Given the description of an element on the screen output the (x, y) to click on. 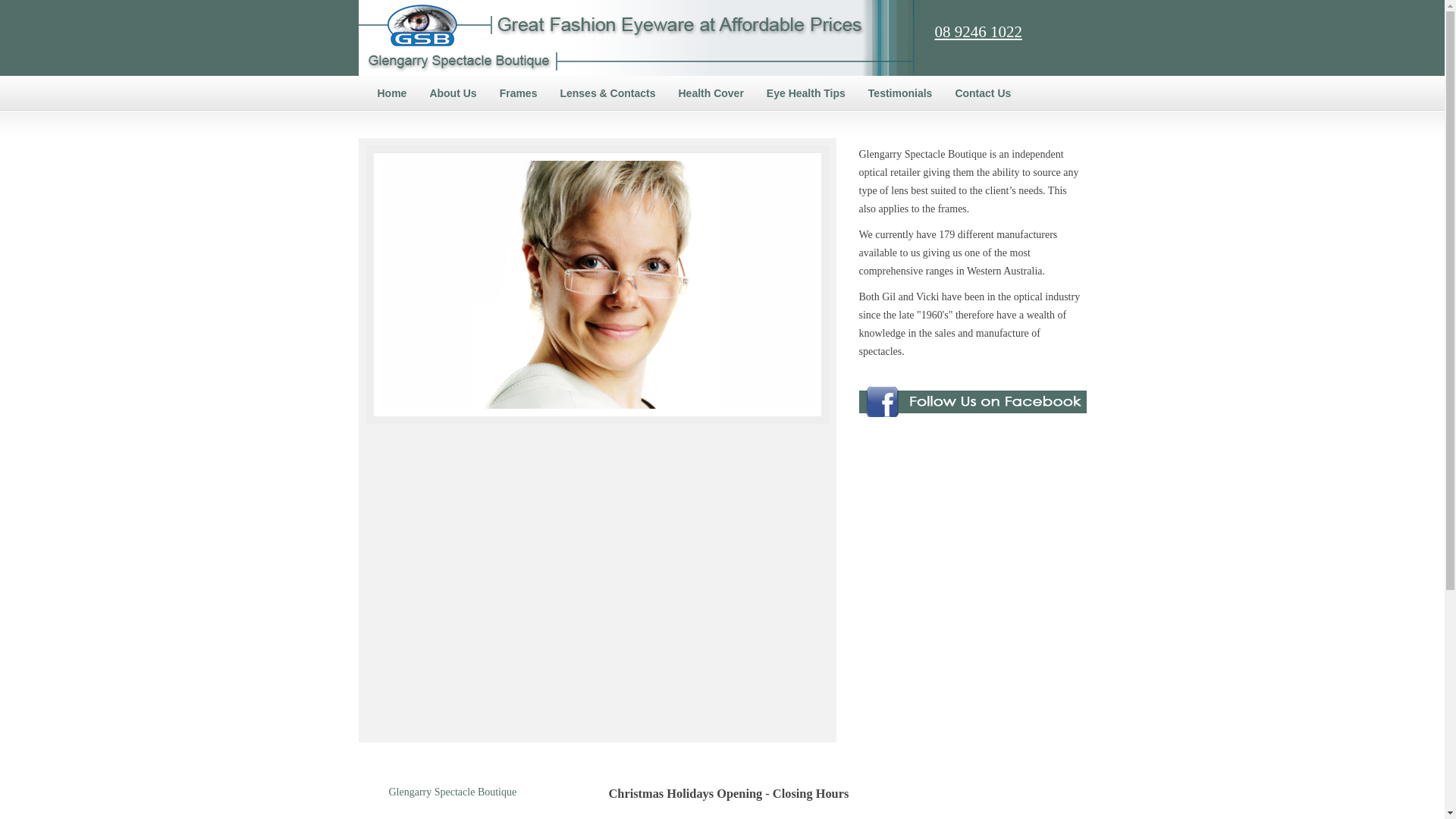
Testimonials Element type: text (900, 92)
Health Cover Element type: text (710, 92)
About Us Element type: text (452, 92)
08 9246 1022 Element type: text (978, 31)
Eye Health Tips Element type: text (805, 92)
Glengarry Spectacle Boutique Element type: text (452, 791)
Glengarry Spectacles Boutique Element type: text (638, 37)
Contact Us Element type: text (982, 92)
Frames Element type: text (518, 92)
Home Element type: text (391, 92)
Lenses & Contacts Element type: text (607, 92)
